Given the description of an element on the screen output the (x, y) to click on. 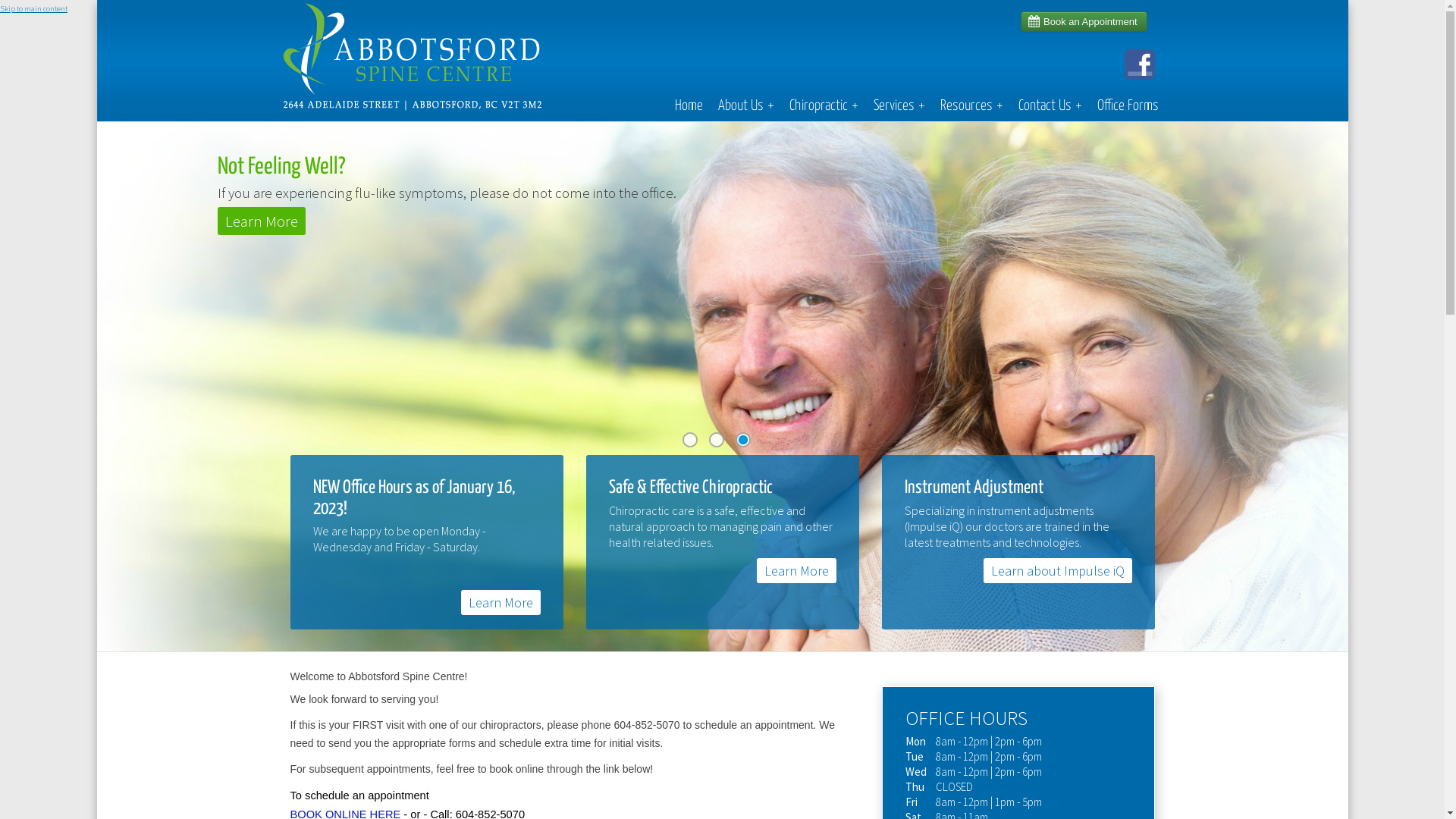
Office Forms Element type: text (1126, 106)
Learn More Element type: text (796, 570)
Skip to main content Element type: text (33, 9)
Resources+ Element type: text (971, 106)
Learn More Element type: text (500, 602)
Learn about Impulse iQ Element type: text (1056, 570)
Services+ Element type: text (899, 106)
Like Us On Facebook Element type: text (271, 249)
Home Element type: text (688, 106)
About Us+ Element type: text (745, 106)
Chiropractic+ Element type: text (823, 106)
Learn More Element type: text (265, 221)
Contact Us+ Element type: text (1049, 106)
